Given the description of an element on the screen output the (x, y) to click on. 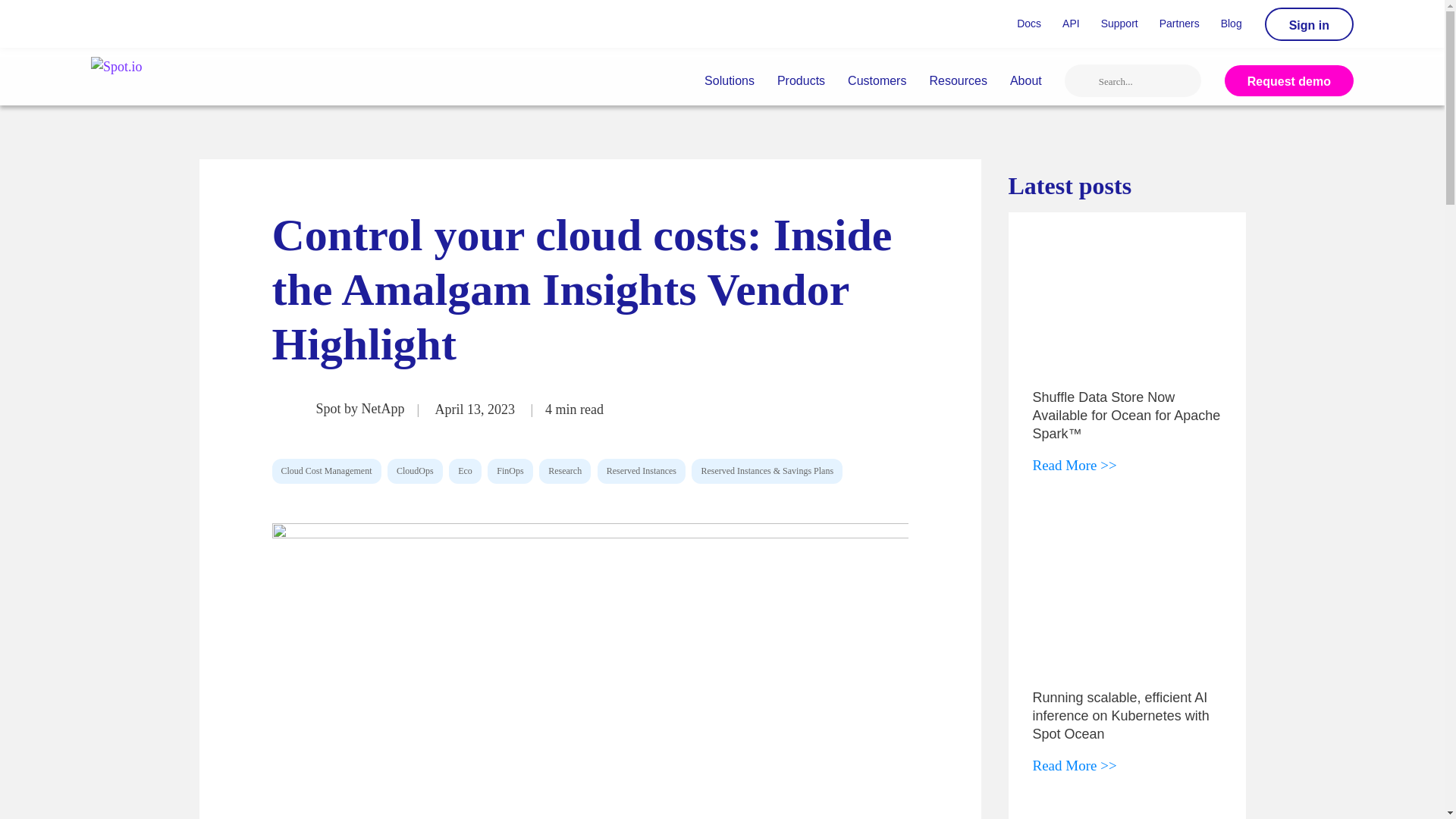
Support (1119, 23)
Solutions (729, 80)
API (1070, 23)
Blog (1230, 23)
Products (800, 80)
Partners (1178, 23)
Docs (1028, 23)
Sign in (1309, 23)
